Given the description of an element on the screen output the (x, y) to click on. 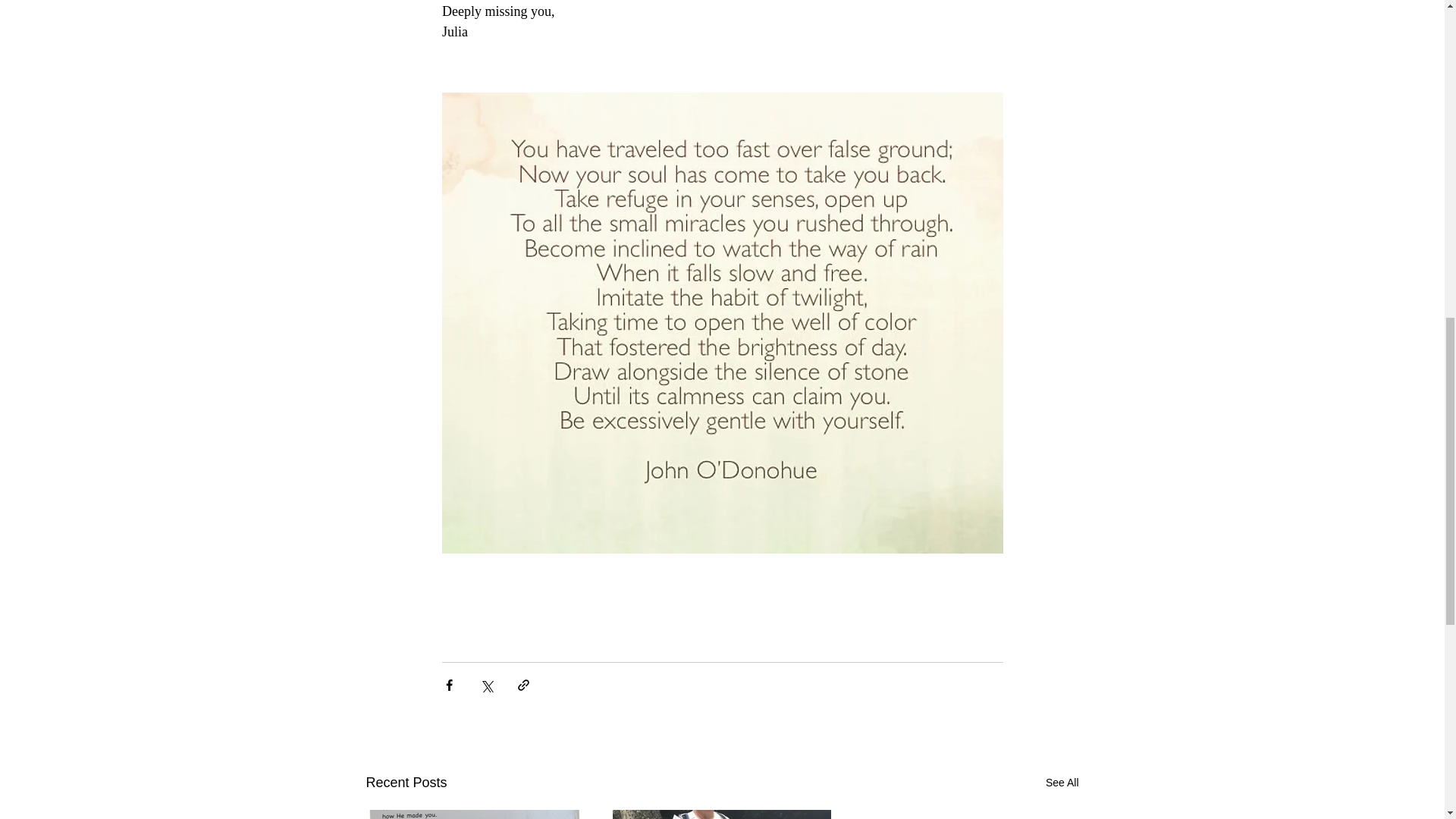
See All (1061, 782)
